Given the description of an element on the screen output the (x, y) to click on. 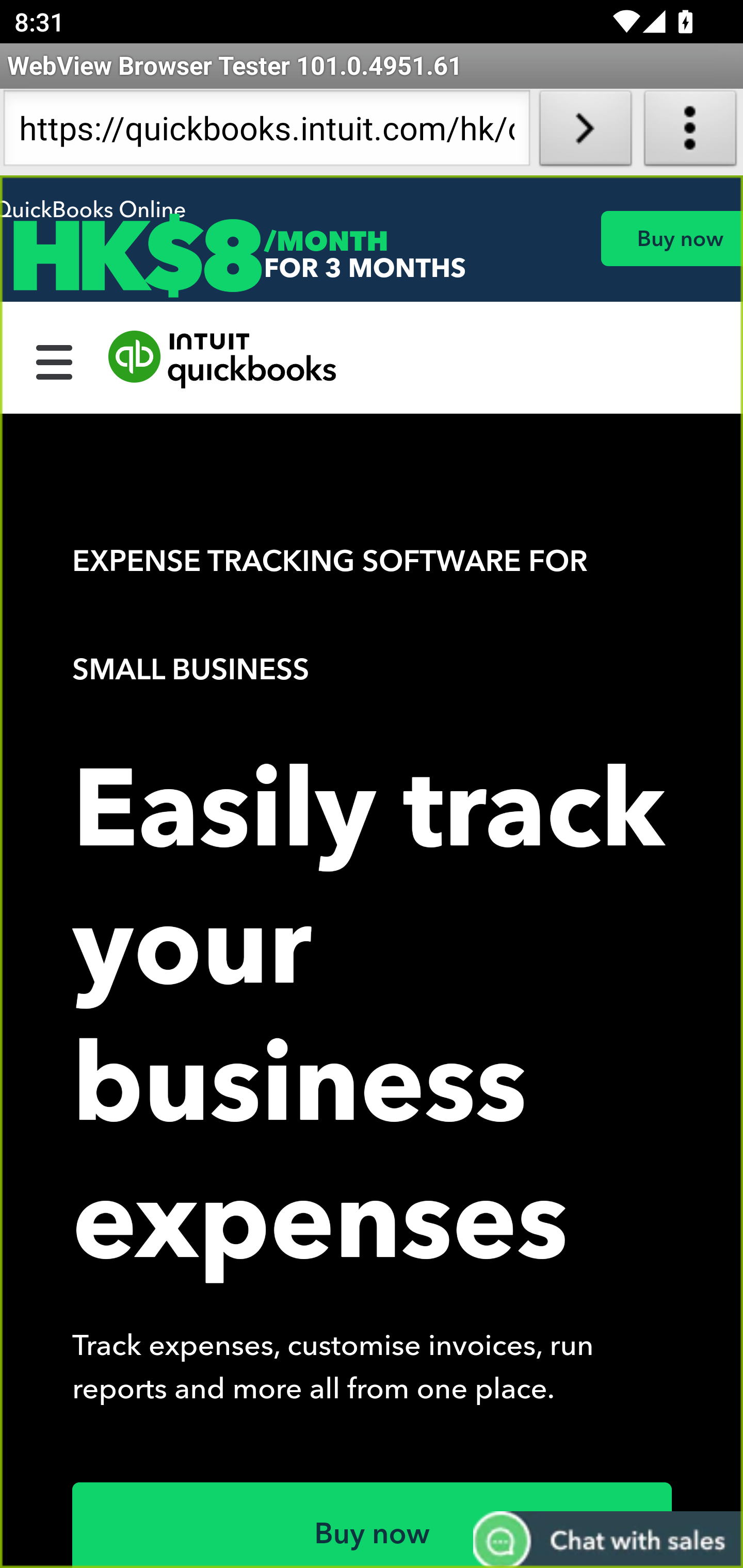
Load URL (585, 132)
About WebView (690, 132)
Buy now (671, 238)
quickbooks-mobile-burger (54, 359)
quickbooks (222, 359)
Buy now (372, 1524)
